Given the description of an element on the screen output the (x, y) to click on. 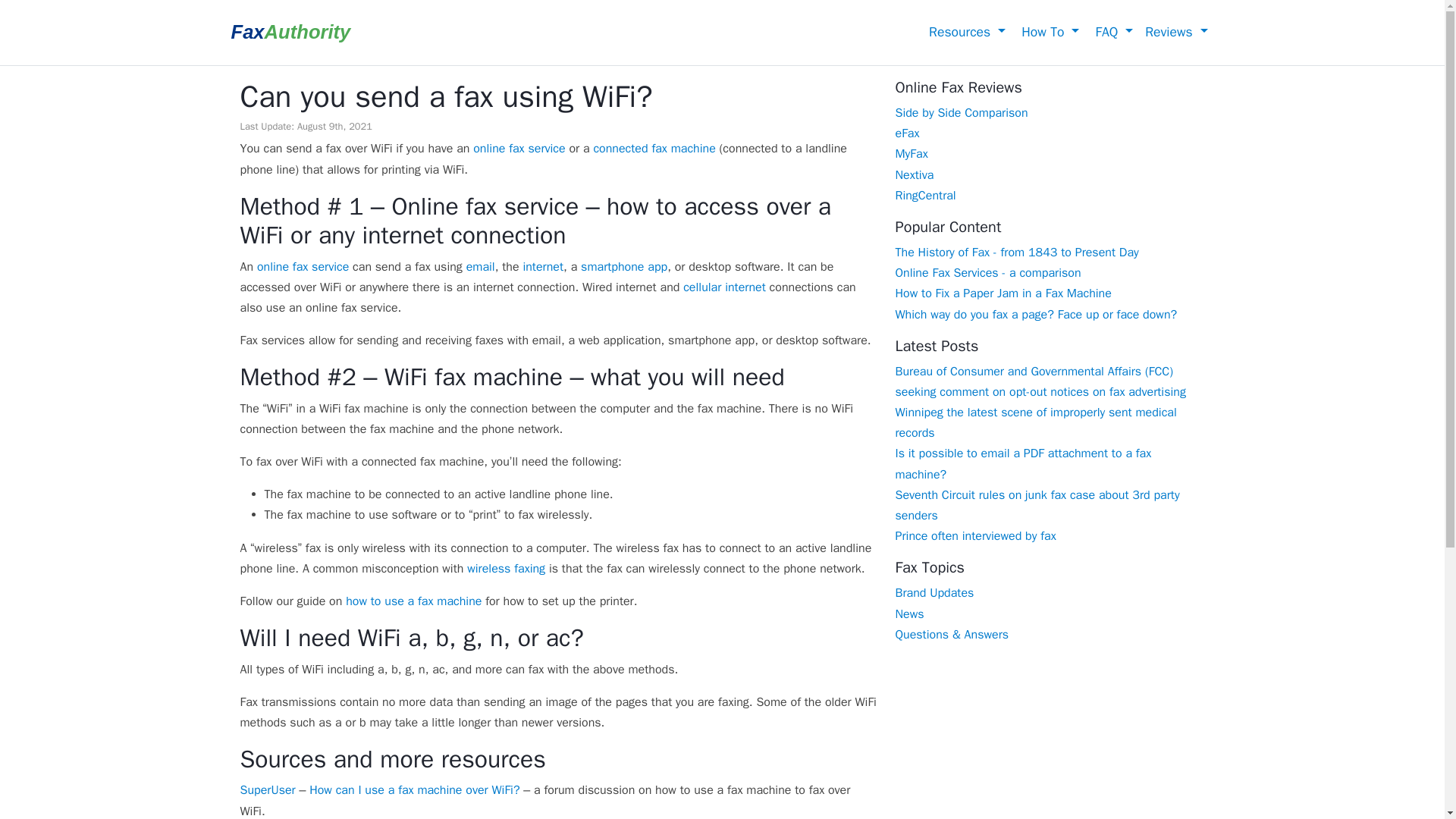
connected fax machine (653, 148)
Fax Authority (290, 32)
Fax Resources (964, 32)
Faxing How To (1047, 32)
 How To (1047, 32)
online fax service (518, 148)
FaxAuthority (290, 32)
Reviews (1175, 32)
 FAQ (1111, 32)
 Resources (964, 32)
